Given the description of an element on the screen output the (x, y) to click on. 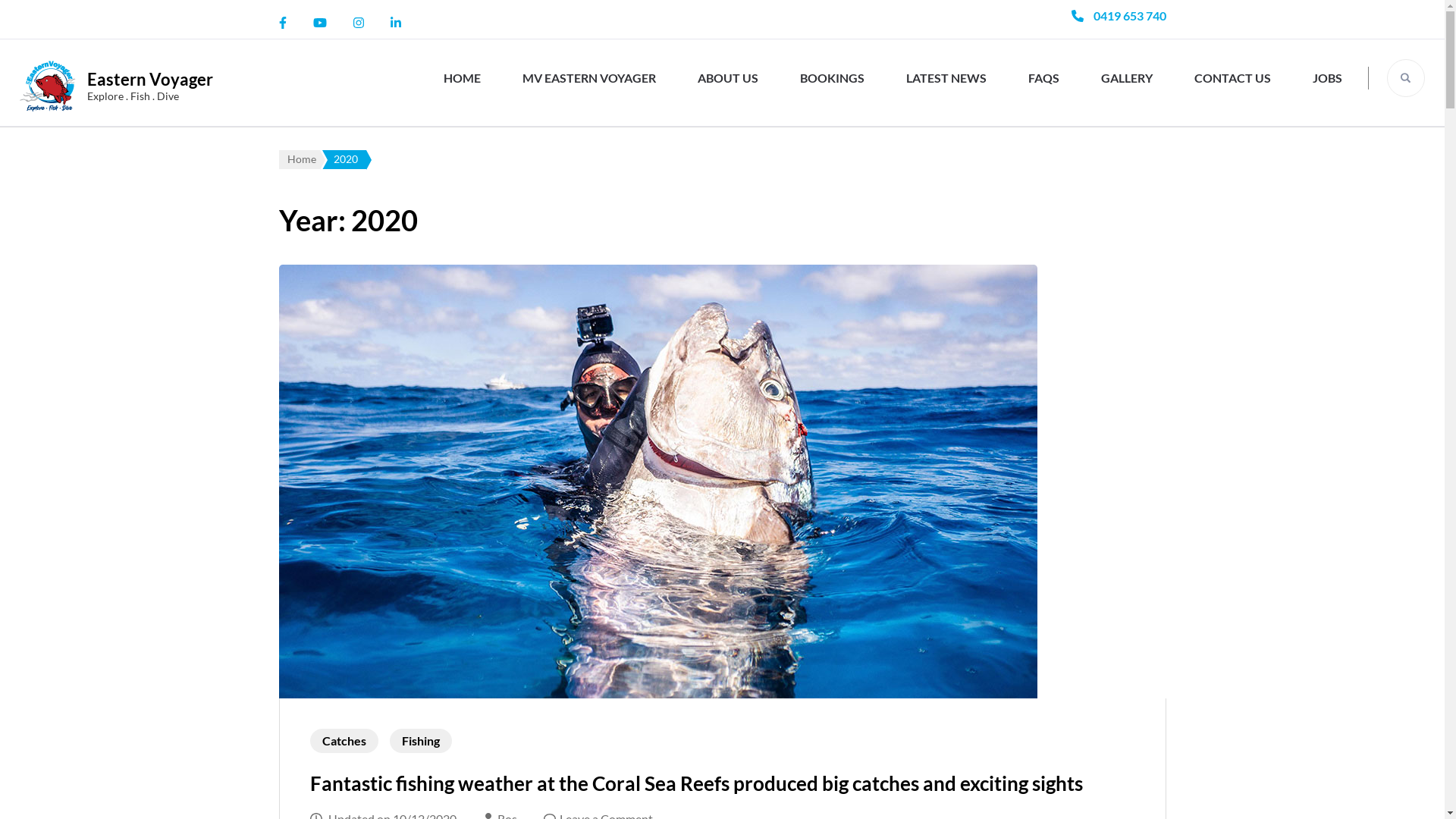
Eastern Voyager Element type: text (150, 79)
JOBS Element type: text (1327, 77)
FAQS Element type: text (1043, 77)
ABOUT US Element type: text (727, 77)
Home Element type: text (299, 159)
Catches Element type: text (343, 740)
GALLERY Element type: text (1126, 77)
Fishing Element type: text (420, 740)
HOME Element type: text (462, 77)
LATEST NEWS Element type: text (946, 77)
CONTACT US Element type: text (1232, 77)
0419 653 740 Element type: text (1129, 15)
MV EASTERN VOYAGER Element type: text (588, 77)
2020 Element type: text (343, 159)
BOOKINGS Element type: text (832, 77)
